Given the description of an element on the screen output the (x, y) to click on. 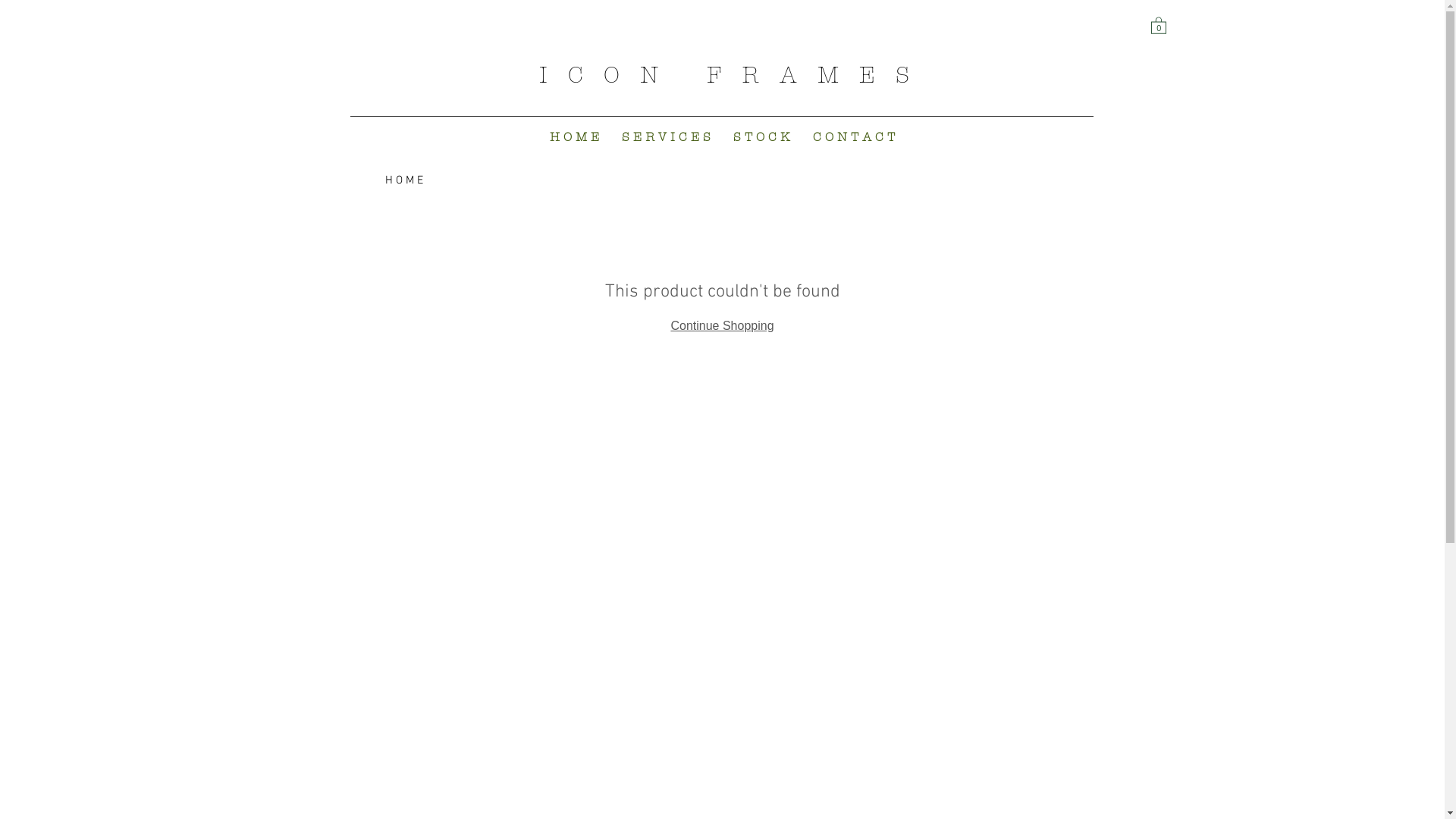
H O M E Element type: text (574, 136)
C O N T A C T Element type: text (853, 136)
ICON FRAMES Element type: text (733, 75)
S E R V I C E S Element type: text (665, 136)
S T O C K Element type: text (761, 136)
0 Element type: text (1158, 24)
Continue Shopping Element type: text (721, 325)
H O M E Element type: text (404, 180)
